Given the description of an element on the screen output the (x, y) to click on. 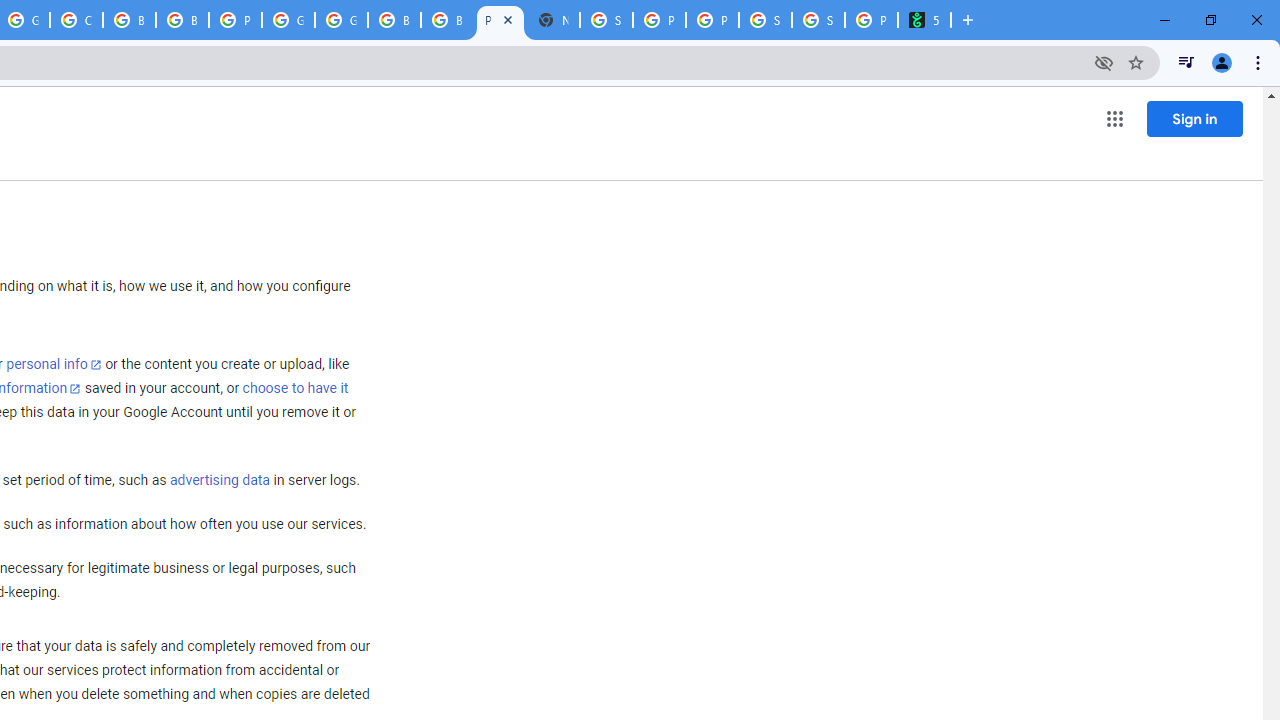
Google Cloud Platform (341, 20)
Google Cloud Platform (288, 20)
Browse Chrome as a guest - Computer - Google Chrome Help (394, 20)
Browse Chrome as a guest - Computer - Google Chrome Help (182, 20)
Browse Chrome as a guest - Computer - Google Chrome Help (447, 20)
advertising data (219, 481)
Browse Chrome as a guest - Computer - Google Chrome Help (129, 20)
